Given the description of an element on the screen output the (x, y) to click on. 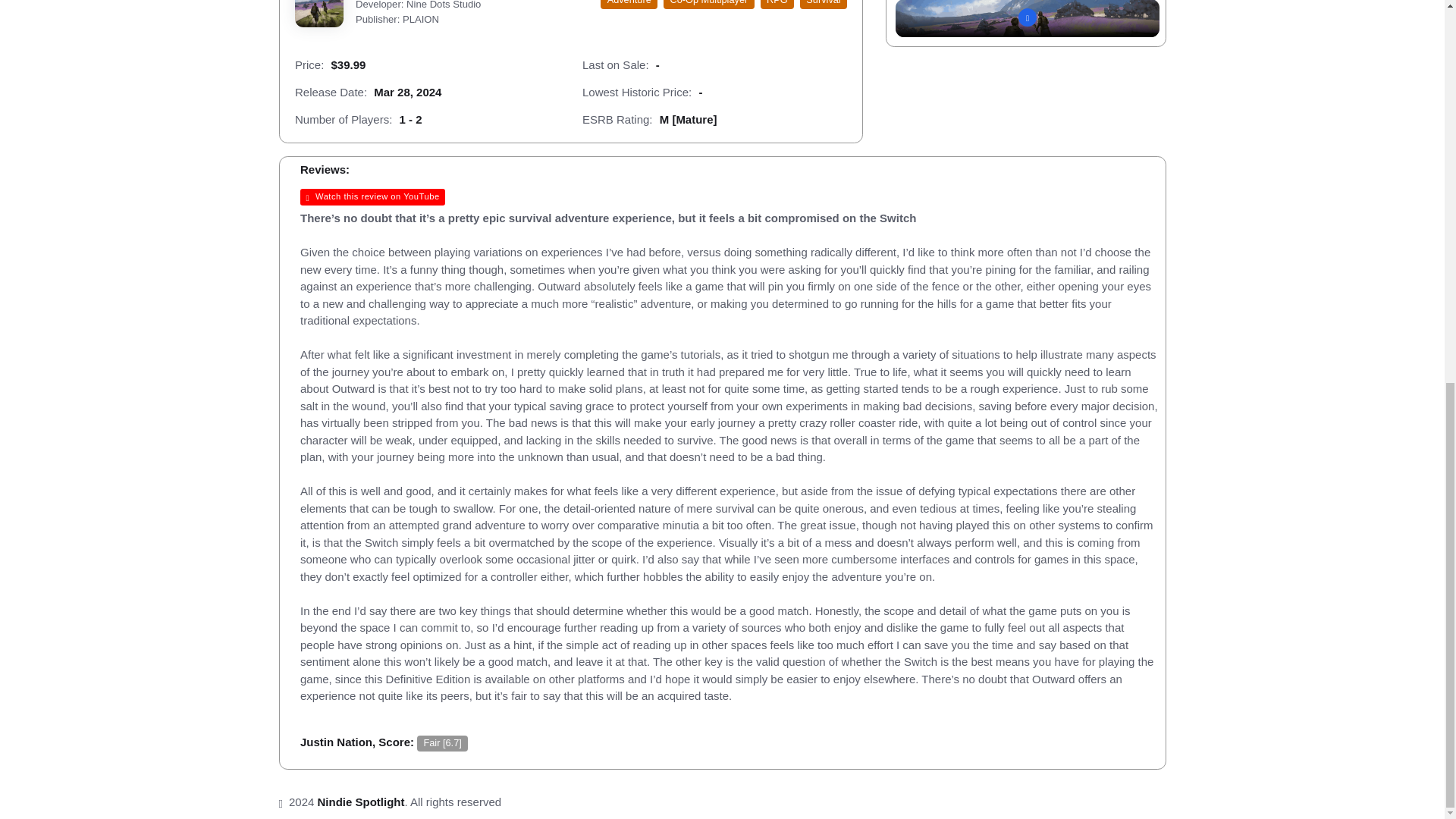
Watch this review on YouTube (372, 196)
